Given the description of an element on the screen output the (x, y) to click on. 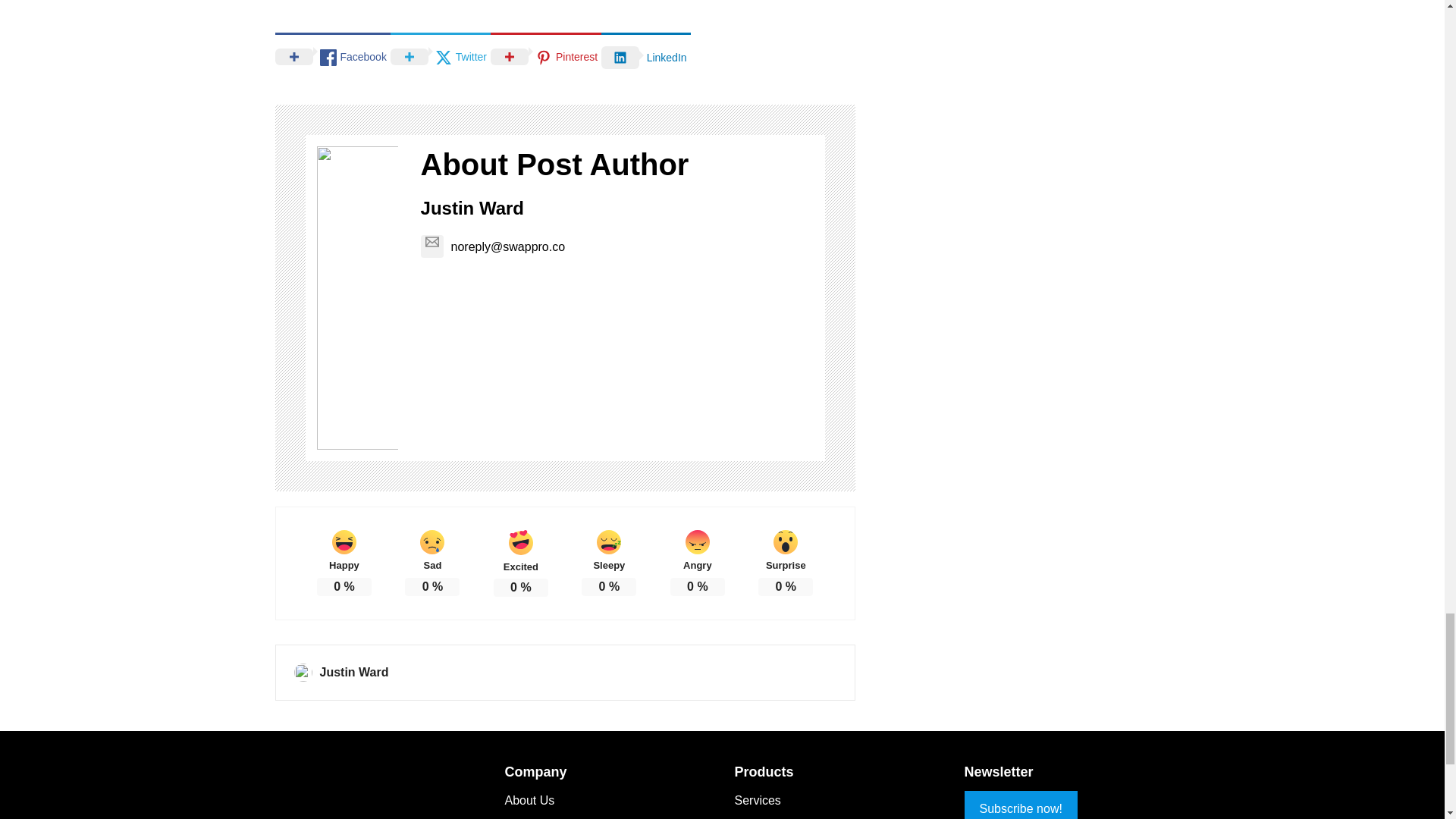
Twitter (440, 54)
LinkedIn (645, 56)
Pinterest (545, 54)
Justin Ward (472, 208)
Facebook (332, 54)
